Given the description of an element on the screen output the (x, y) to click on. 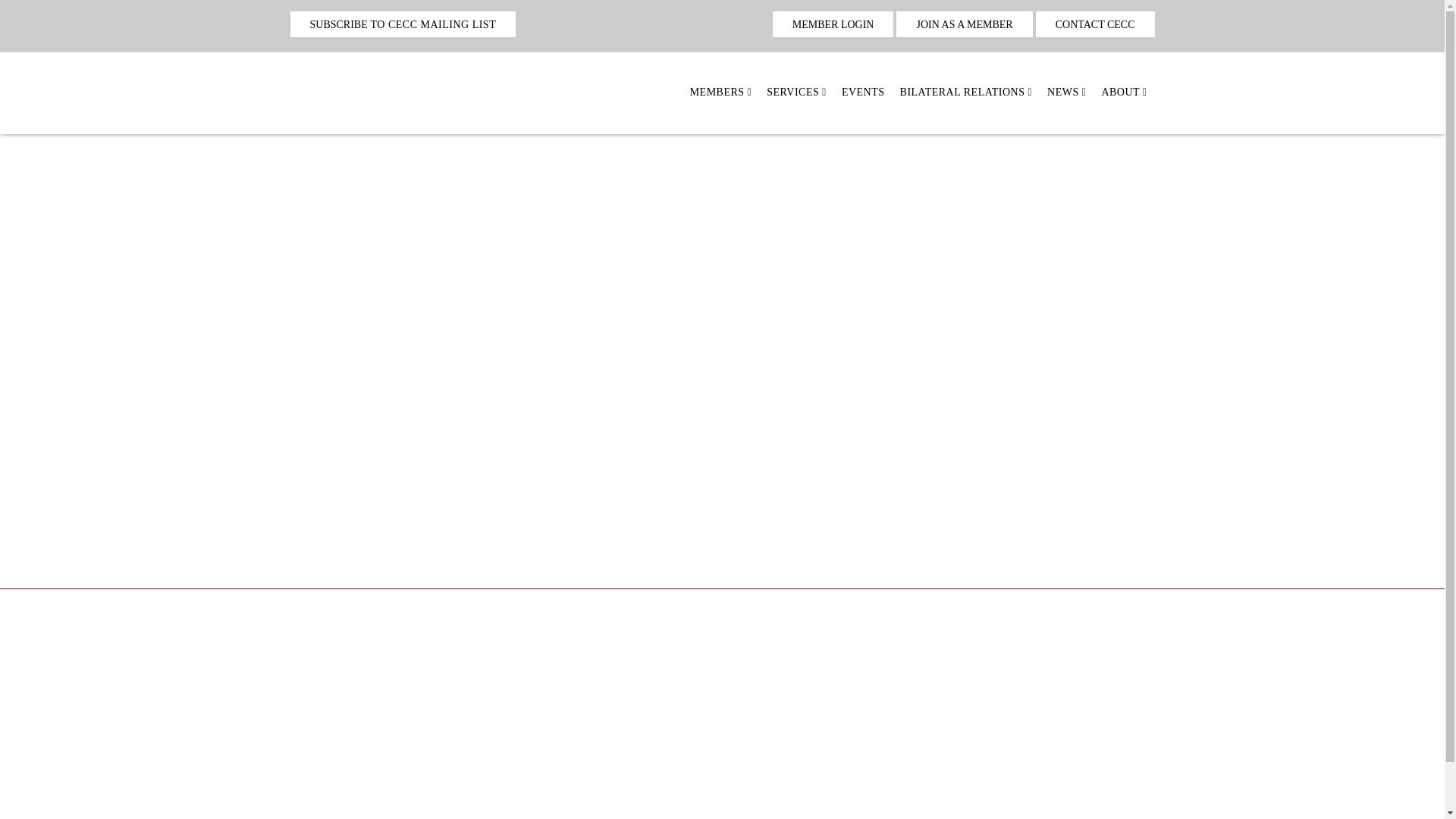
CONTACT CECC (1094, 23)
JOIN AS A MEMBER (964, 23)
Bilateral Relations (966, 91)
MEMBER LOGIN (833, 23)
SUBSCRIBE TO CECC MAILING LIST (402, 23)
BILATERAL RELATIONS (966, 91)
MEMBERS (721, 91)
Members (721, 91)
